Given the description of an element on the screen output the (x, y) to click on. 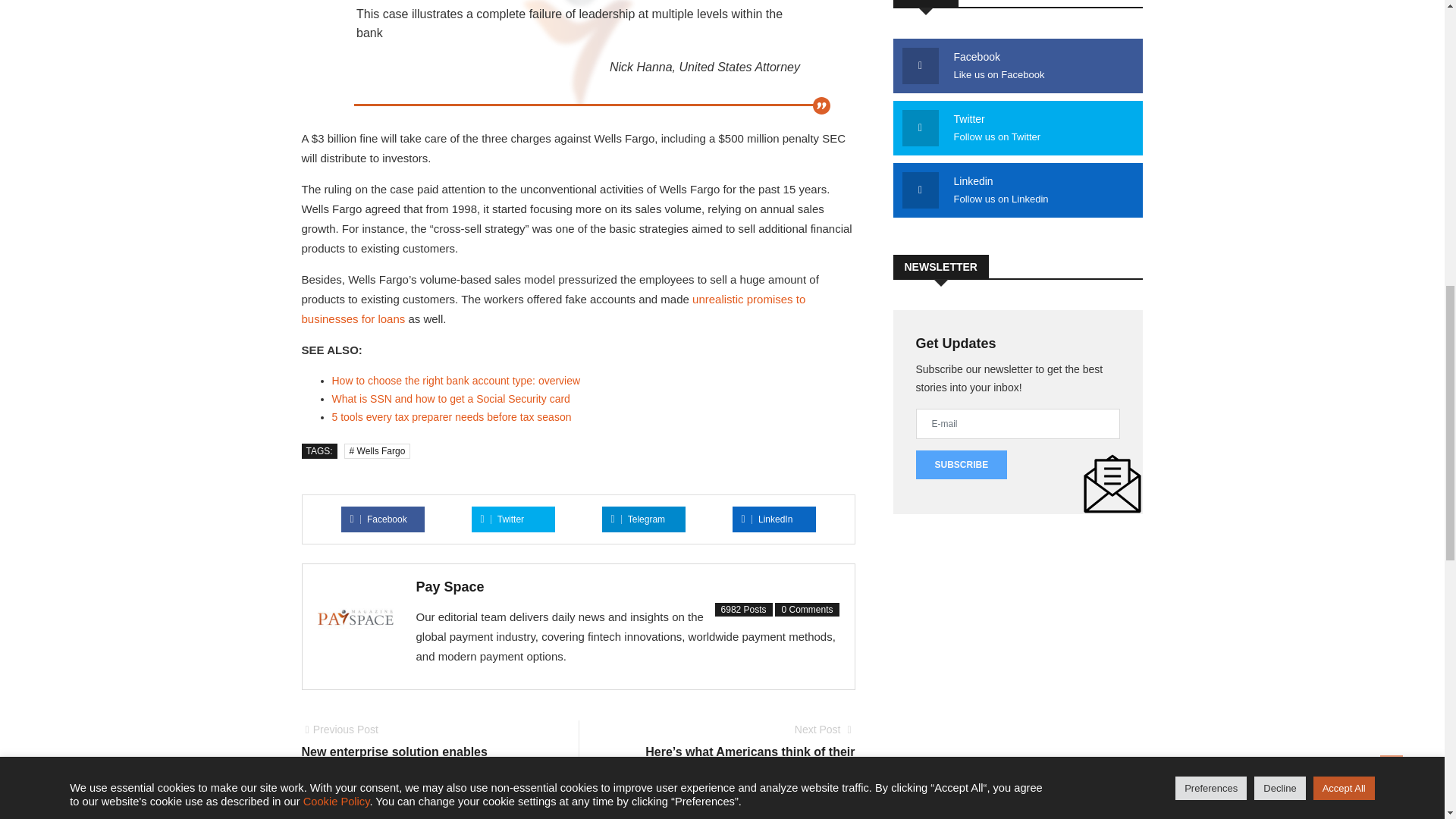
Telegram (638, 519)
How to choose the right bank account type: overview (455, 380)
5 tools every tax preparer needs before tax season (451, 417)
Twitter (502, 519)
Facebook (378, 519)
LinkedIn (767, 519)
unrealistic promises to businesses for loans (553, 308)
What is SSN and how to get a Social Security card (450, 398)
